Given the description of an element on the screen output the (x, y) to click on. 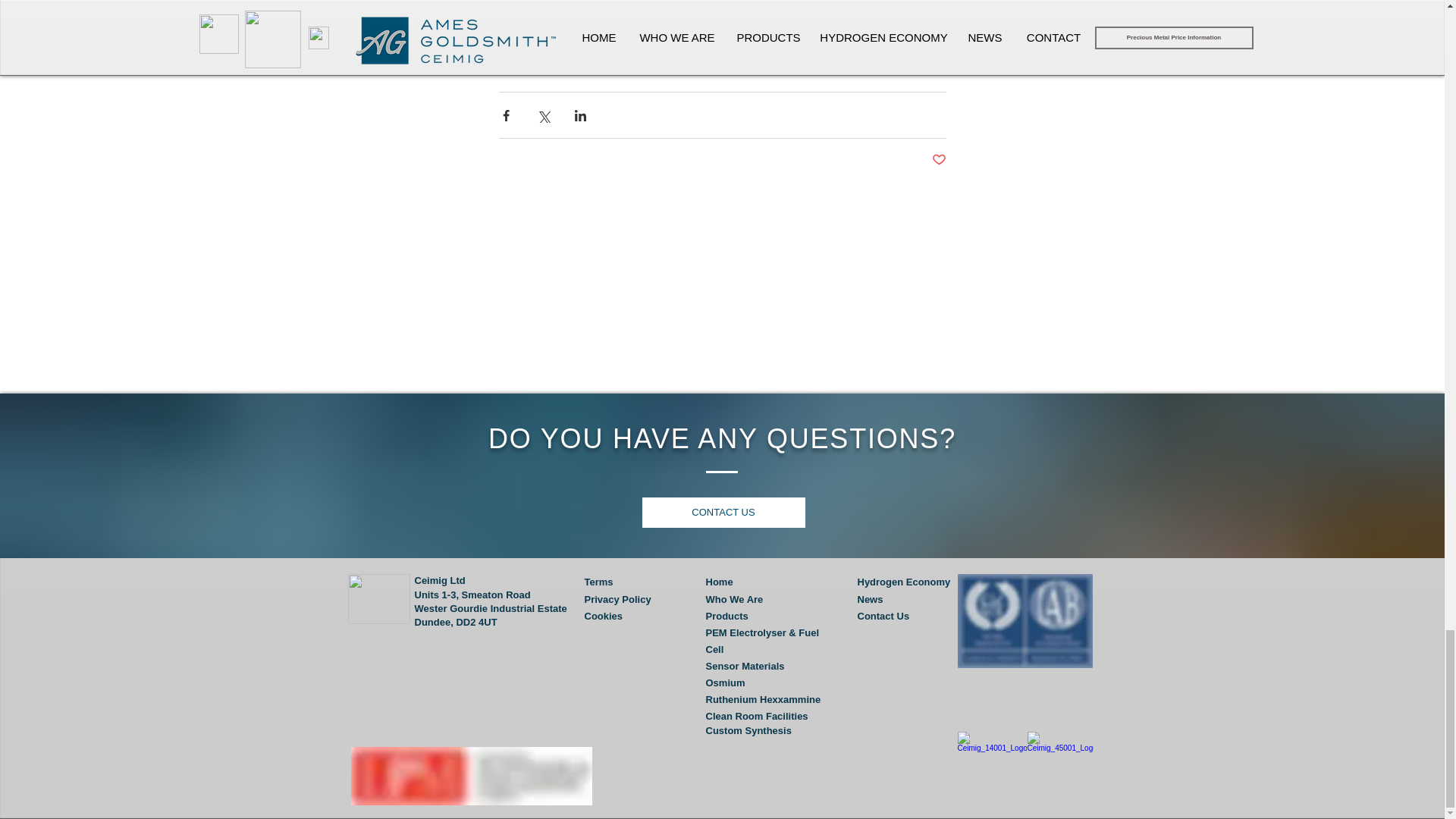
Osmium (724, 682)
Privacy Policy (616, 599)
Home (718, 582)
Products (726, 615)
Post not marked as liked (937, 160)
Cookies (603, 615)
CONTACT US (723, 512)
Who We Are (733, 599)
Sensor Materials (744, 665)
Ruthenium Hexxammine (762, 699)
